Given the description of an element on the screen output the (x, y) to click on. 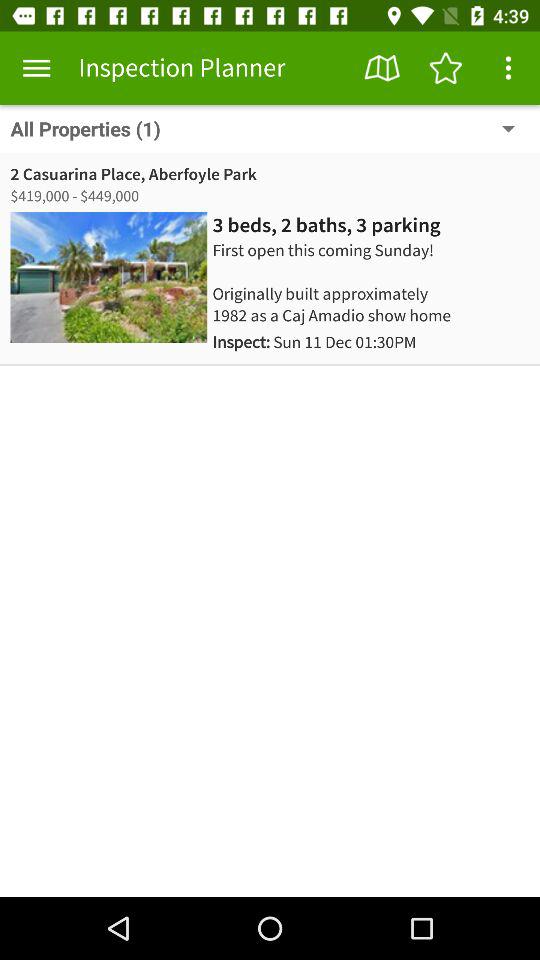
choose the icon above the all properties (1) (444, 67)
